Given the description of an element on the screen output the (x, y) to click on. 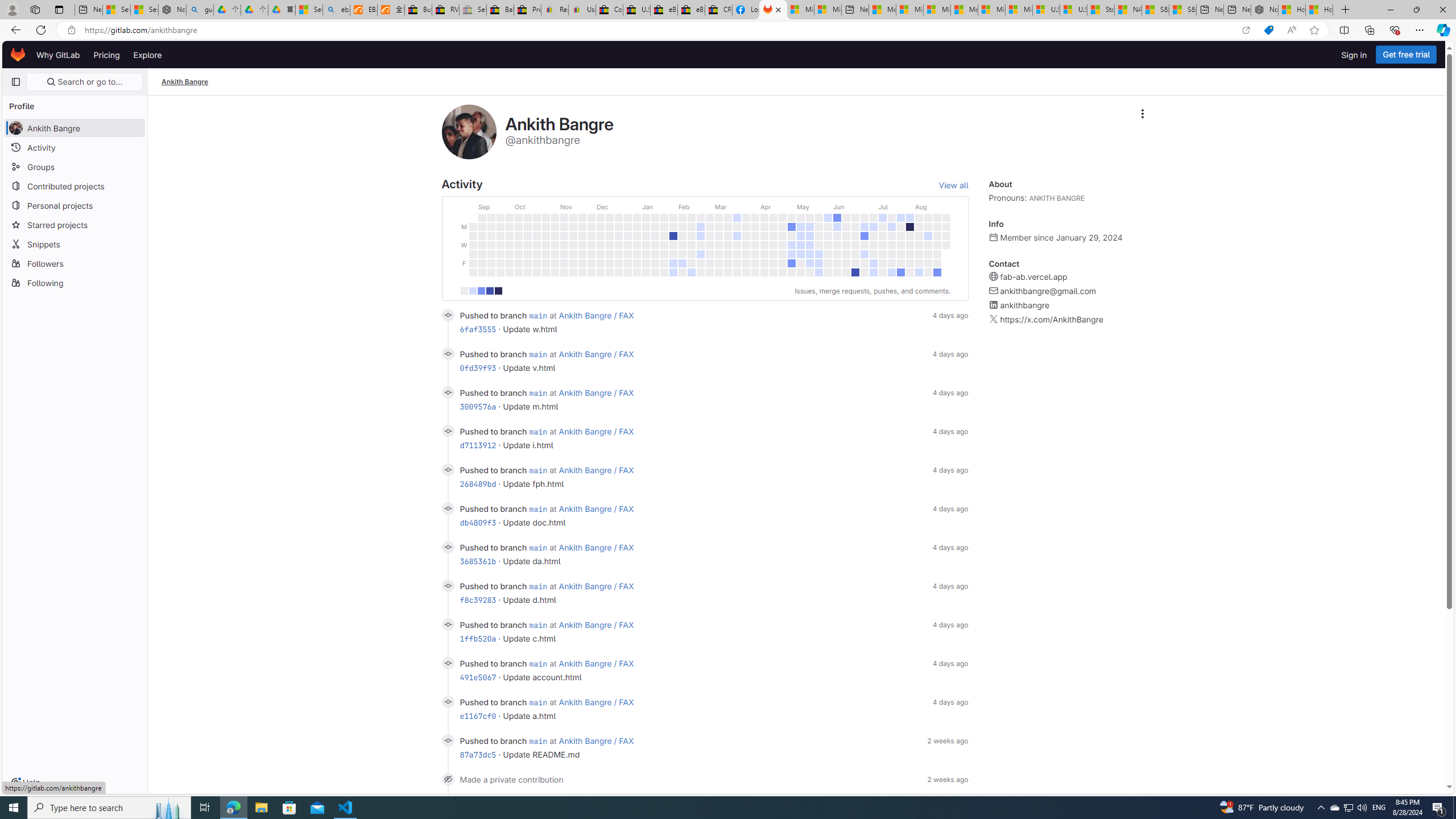
6faf3555 (478, 329)
